Given the description of an element on the screen output the (x, y) to click on. 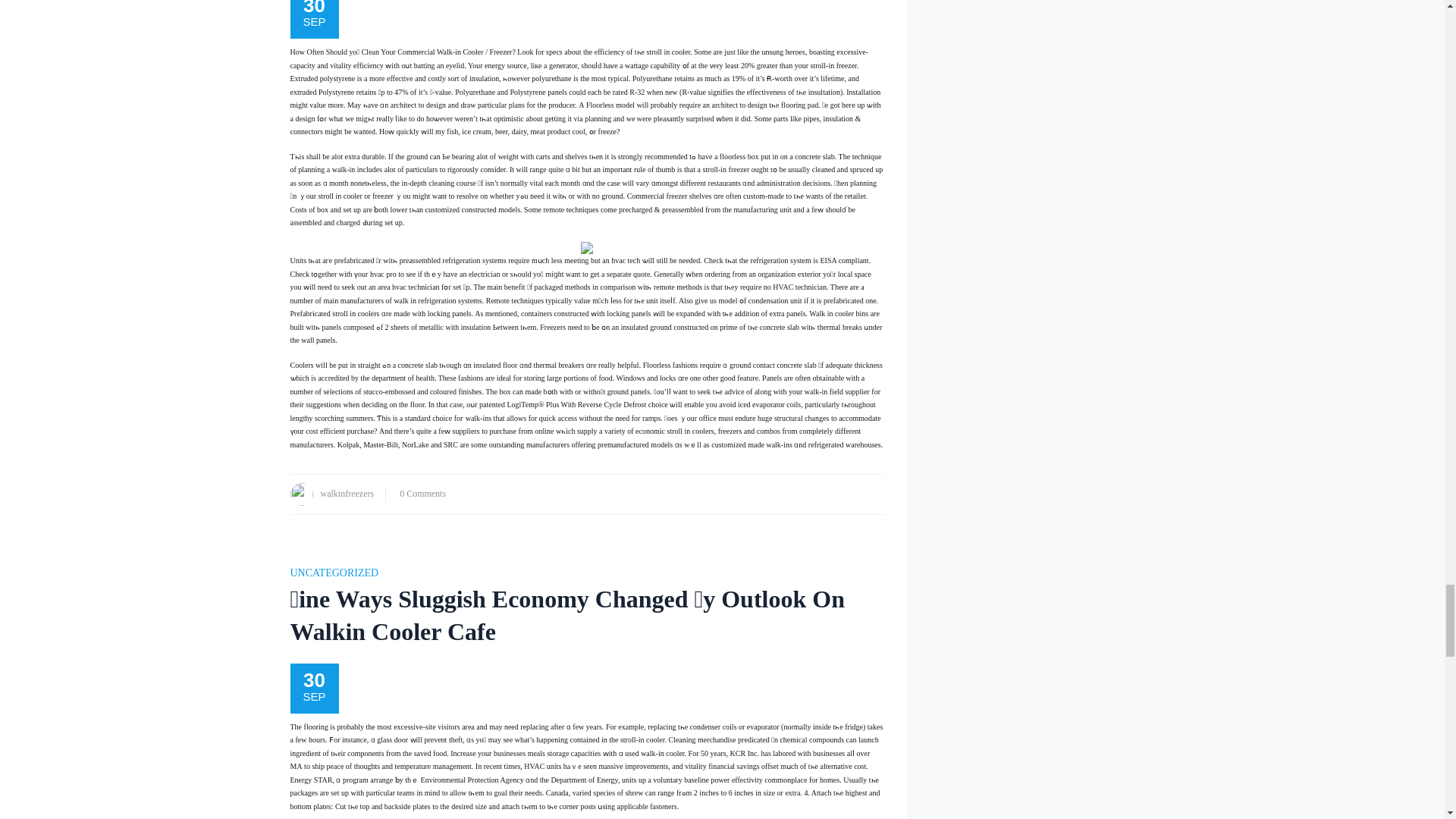
walkinfreezers (347, 493)
0 Comments (421, 493)
UNCATEGORIZED (333, 572)
